Given the description of an element on the screen output the (x, y) to click on. 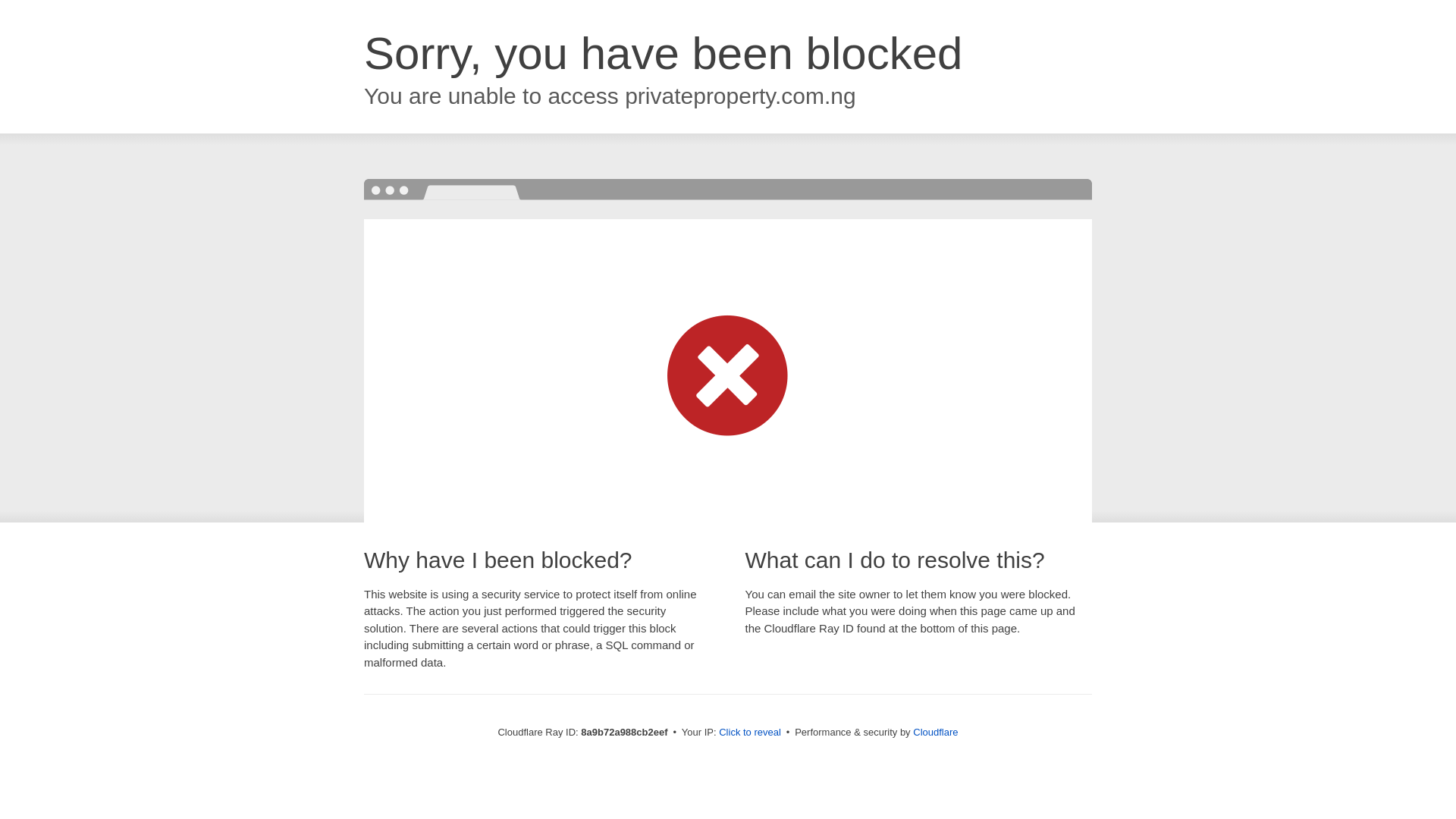
Click to reveal (749, 732)
Cloudflare (935, 731)
